Given the description of an element on the screen output the (x, y) to click on. 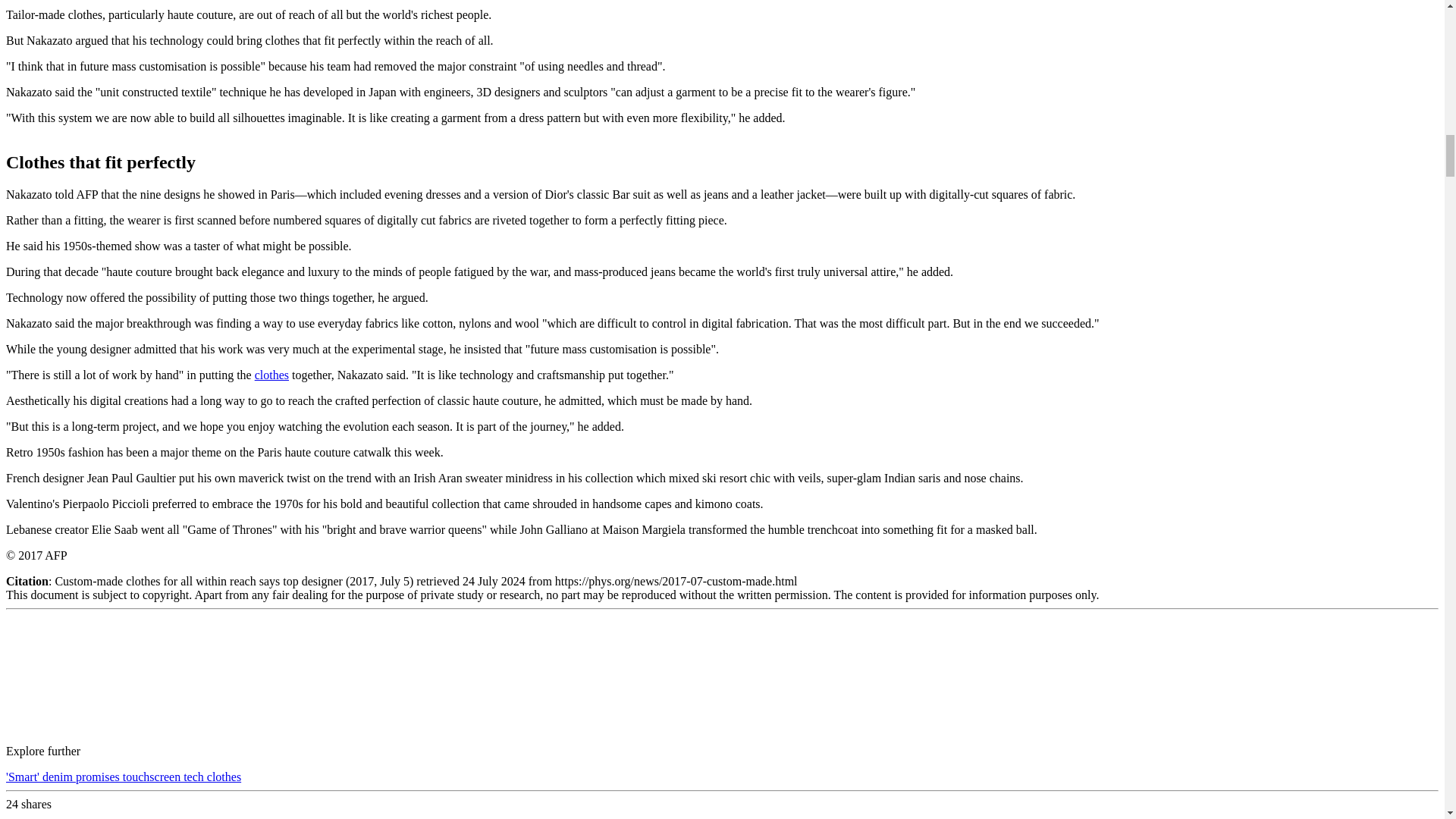
'Smart' denim promises touchscreen tech clothes (123, 776)
24 shares (27, 803)
clothes (271, 374)
